Given the description of an element on the screen output the (x, y) to click on. 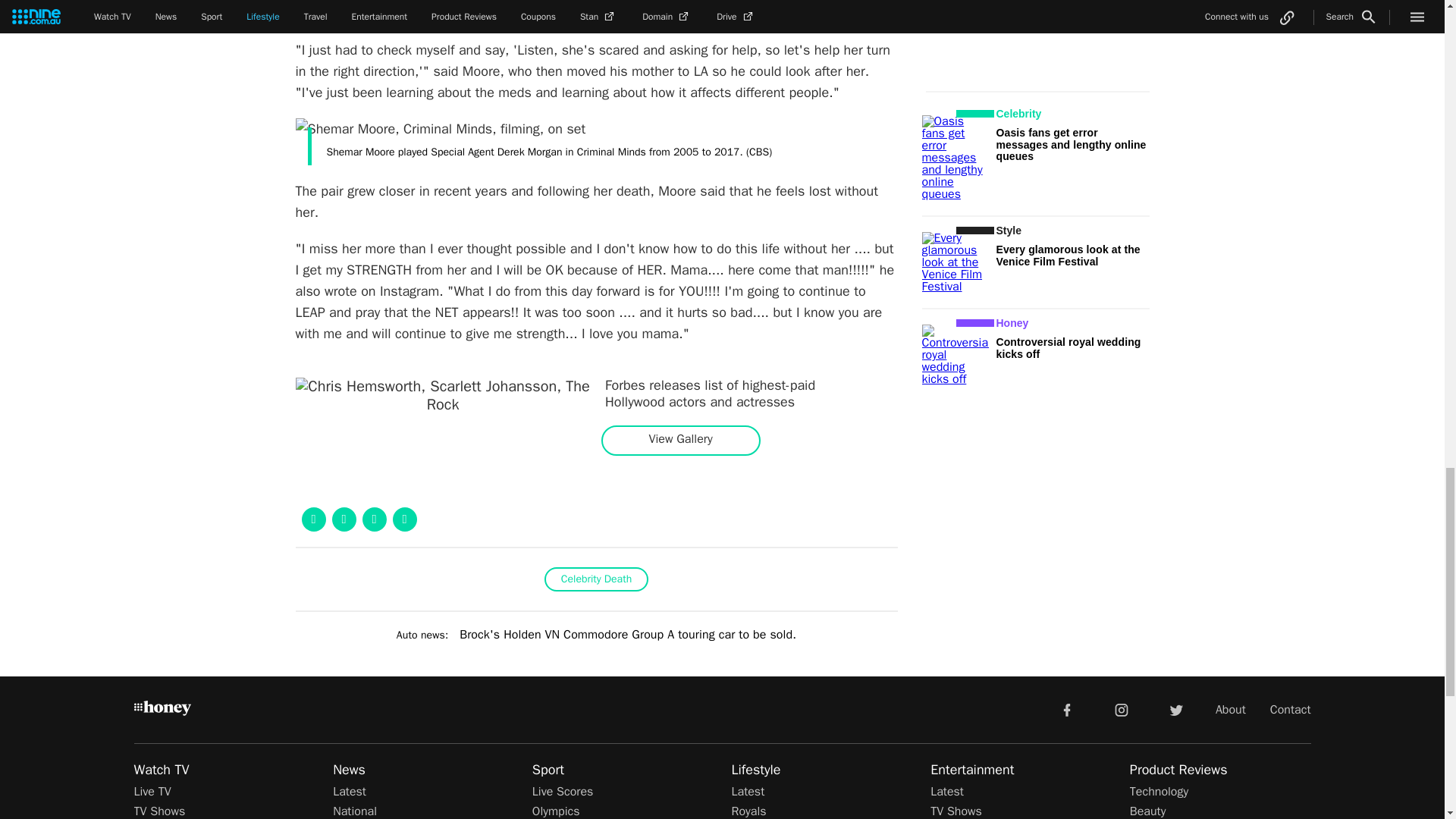
facebook (1066, 708)
instagram (1121, 708)
twitter (1175, 708)
View Gallery (680, 439)
